Given the description of an element on the screen output the (x, y) to click on. 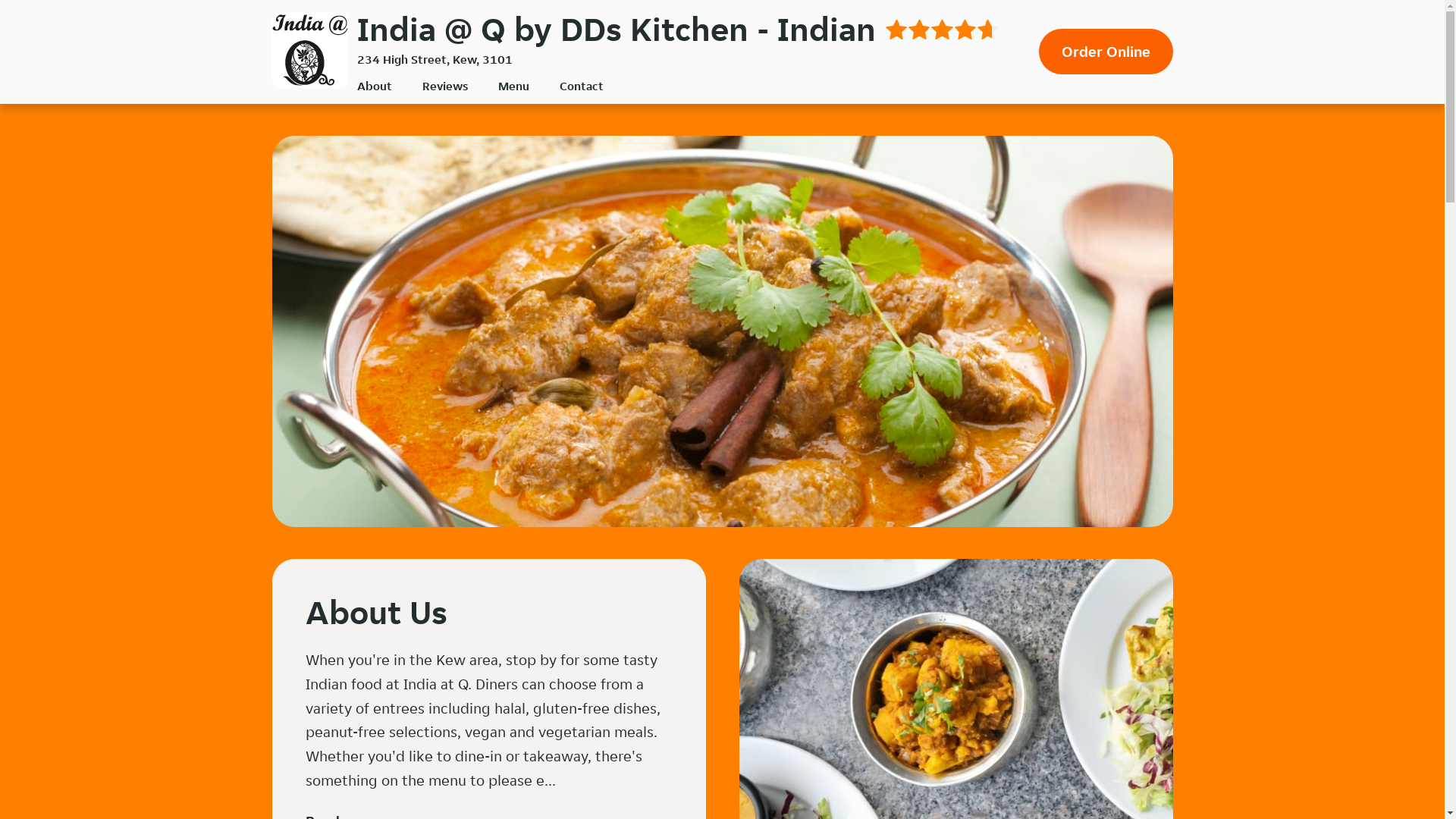
Order Online Element type: text (1105, 51)
Reviews Element type: text (444, 86)
Menu Element type: text (512, 86)
Contact Element type: text (581, 86)
About Element type: text (373, 86)
India @ Q by DDs Kitchen Element type: hover (309, 49)
